Given the description of an element on the screen output the (x, y) to click on. 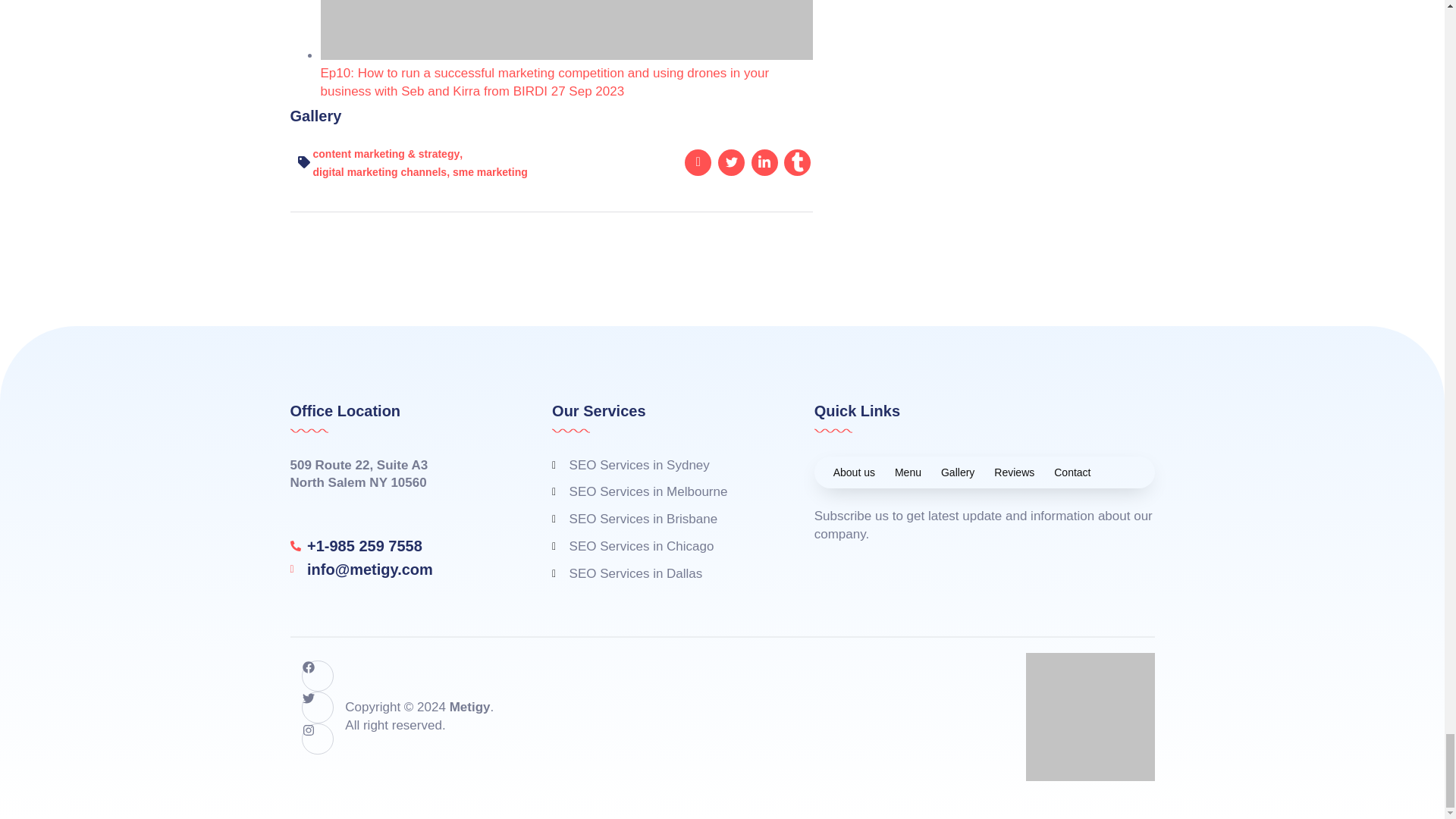
SEO Services in Chicago (659, 546)
SEO Services in Dallas (659, 574)
SEO Services in Melbourne (659, 492)
SEO Services in Sydney (659, 465)
SEO Services in Brisbane (659, 519)
